Given the description of an element on the screen output the (x, y) to click on. 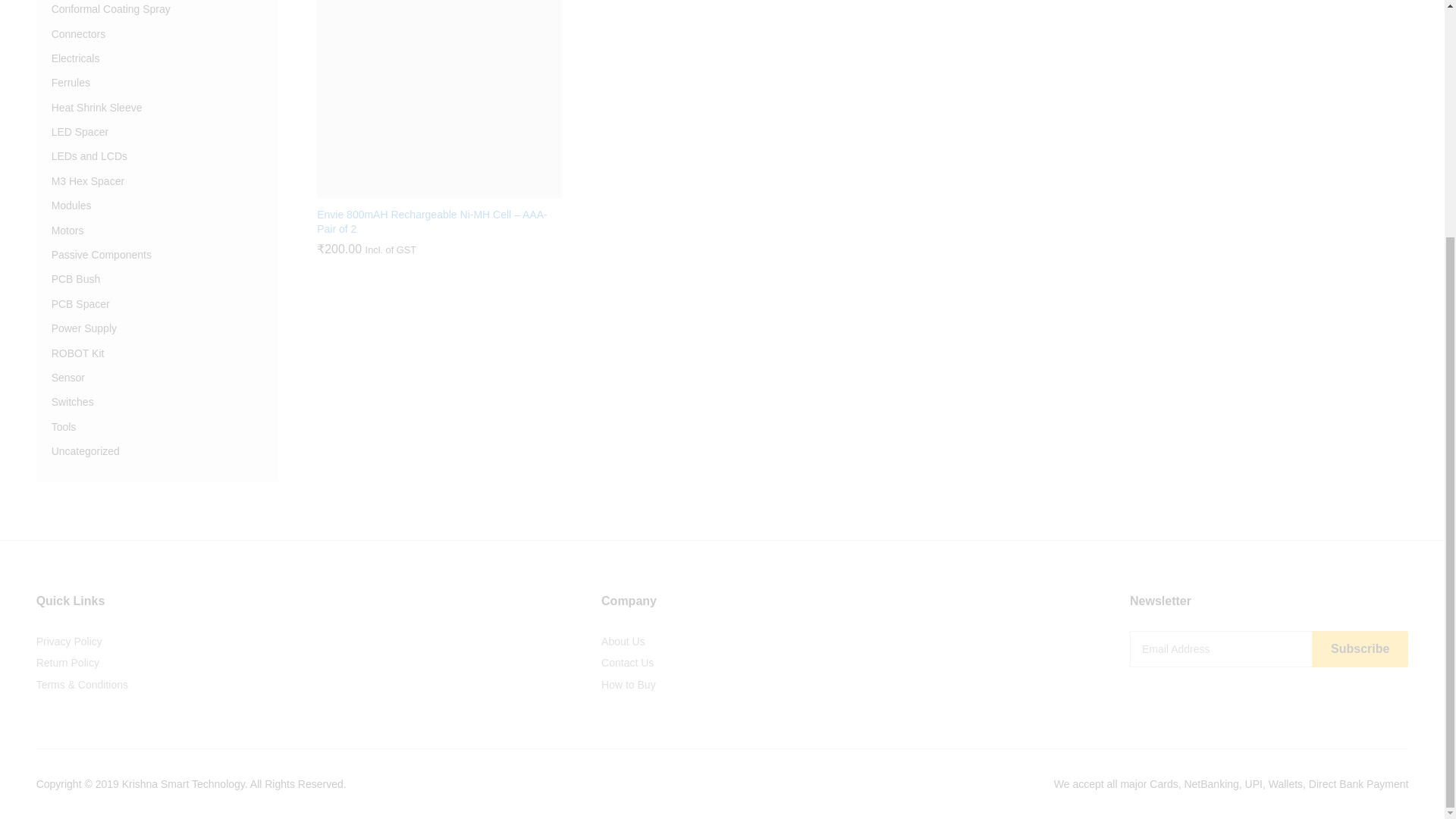
Subscribe (1359, 648)
